Given the description of an element on the screen output the (x, y) to click on. 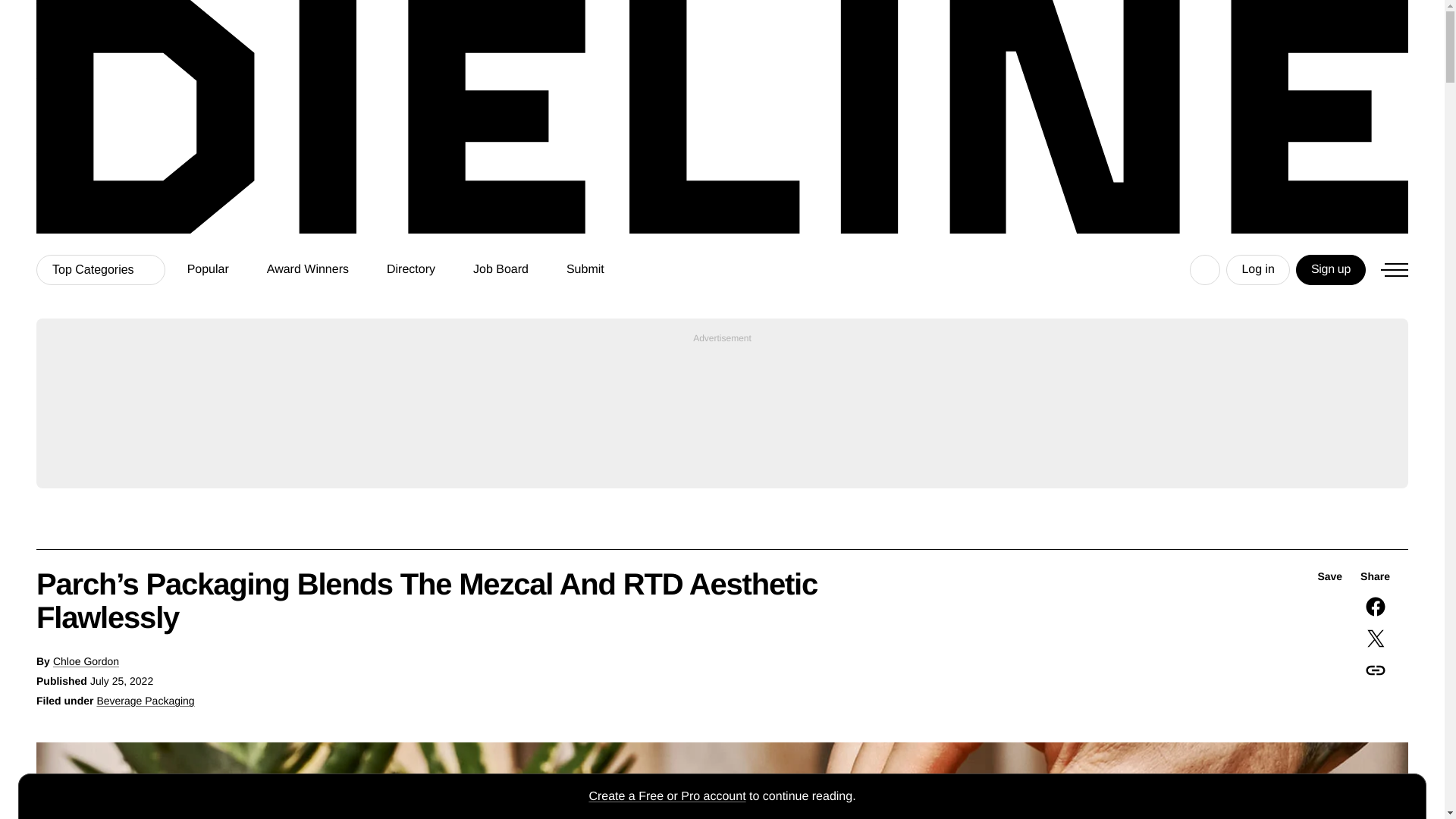
Award Winners (307, 269)
Popular (207, 269)
Job Board (500, 269)
Search (1204, 269)
Submit (588, 269)
Top Categories (100, 269)
Sign up (1330, 269)
Directory (411, 269)
Log in (1257, 269)
